Given the description of an element on the screen output the (x, y) to click on. 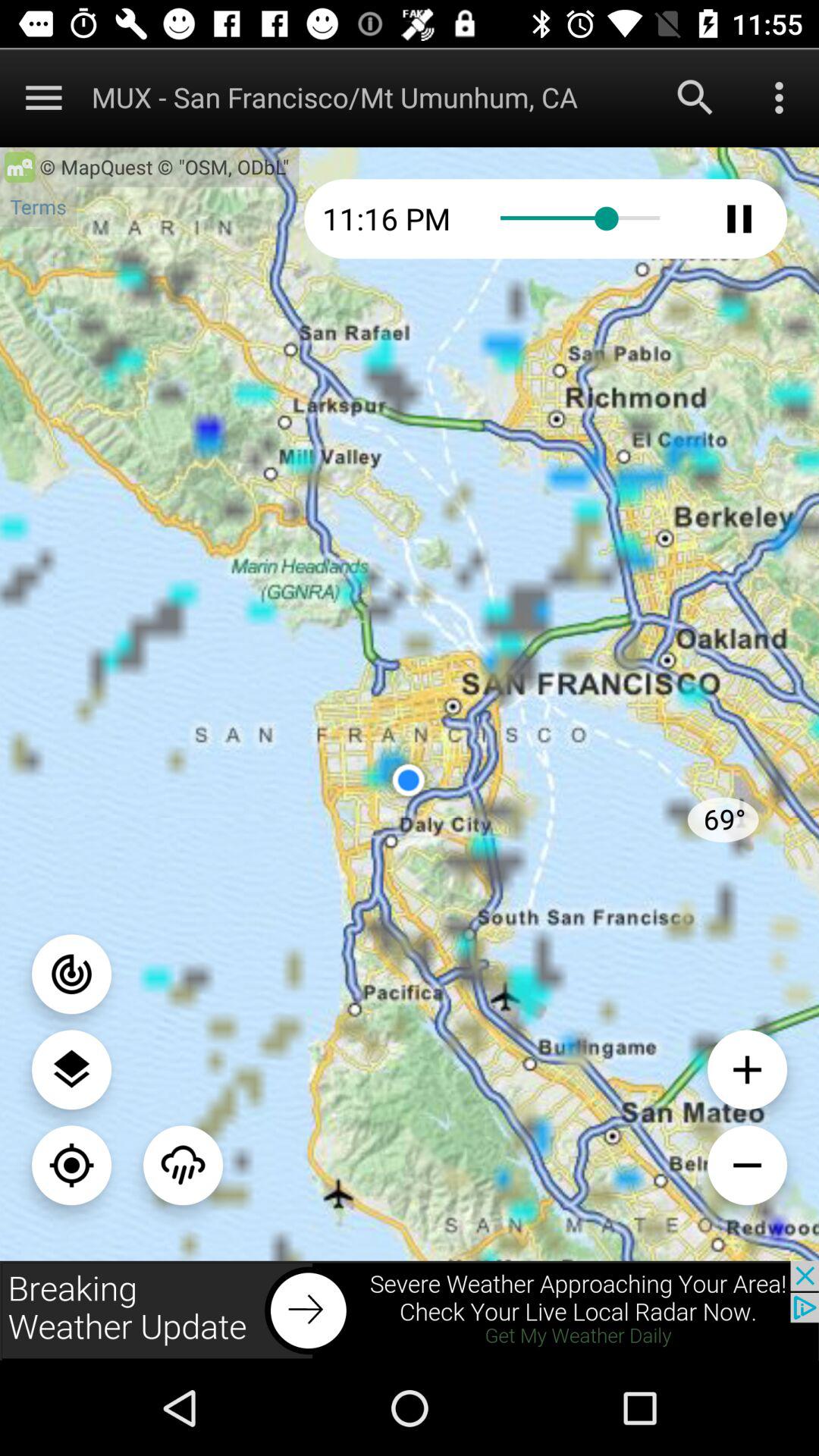
next the pages (409, 1310)
